Given the description of an element on the screen output the (x, y) to click on. 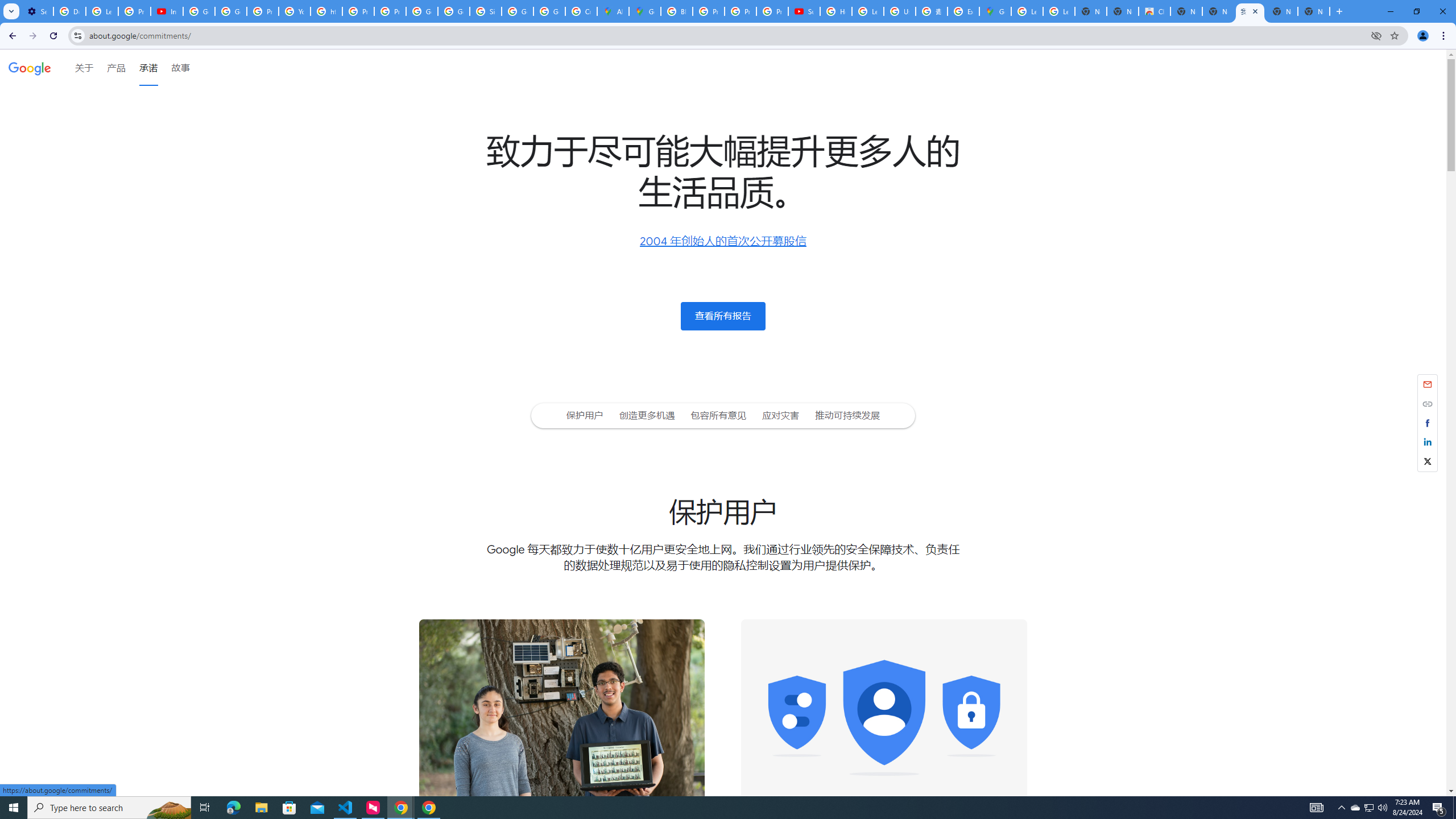
Blogger Policies and Guidelines - Transparency Center (676, 11)
How Chrome protects your passwords - Google Chrome Help (836, 11)
Learn how to find your photos - Google Photos Help (101, 11)
https://scholar.google.com/ (326, 11)
YouTube (294, 11)
